Given the description of an element on the screen output the (x, y) to click on. 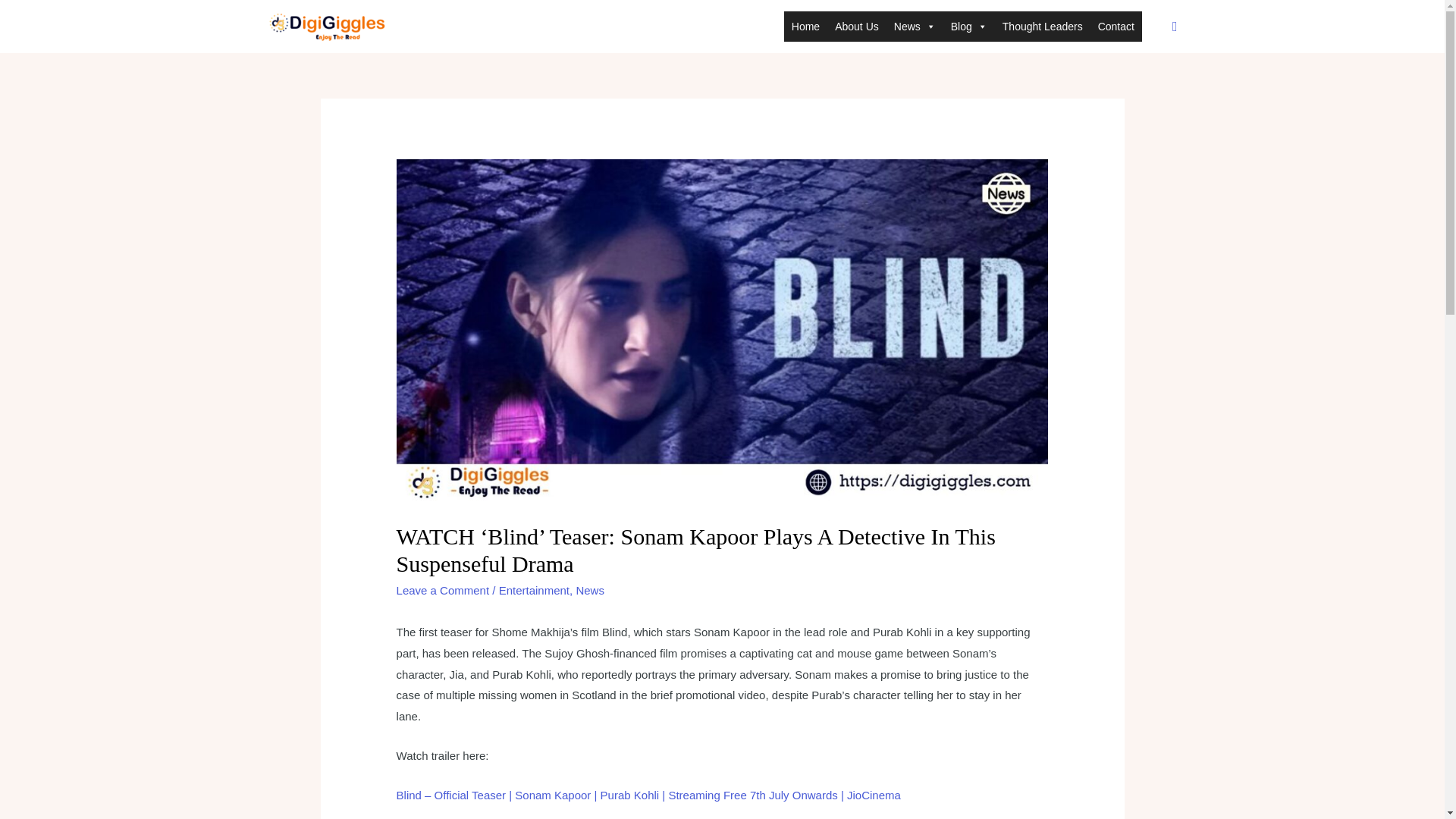
Home (805, 26)
About Us (856, 26)
News (589, 590)
Leave a Comment (442, 590)
Entertainment (534, 590)
Blog (968, 26)
News (914, 26)
Thought Leaders (1042, 26)
Contact (1115, 26)
